Given the description of an element on the screen output the (x, y) to click on. 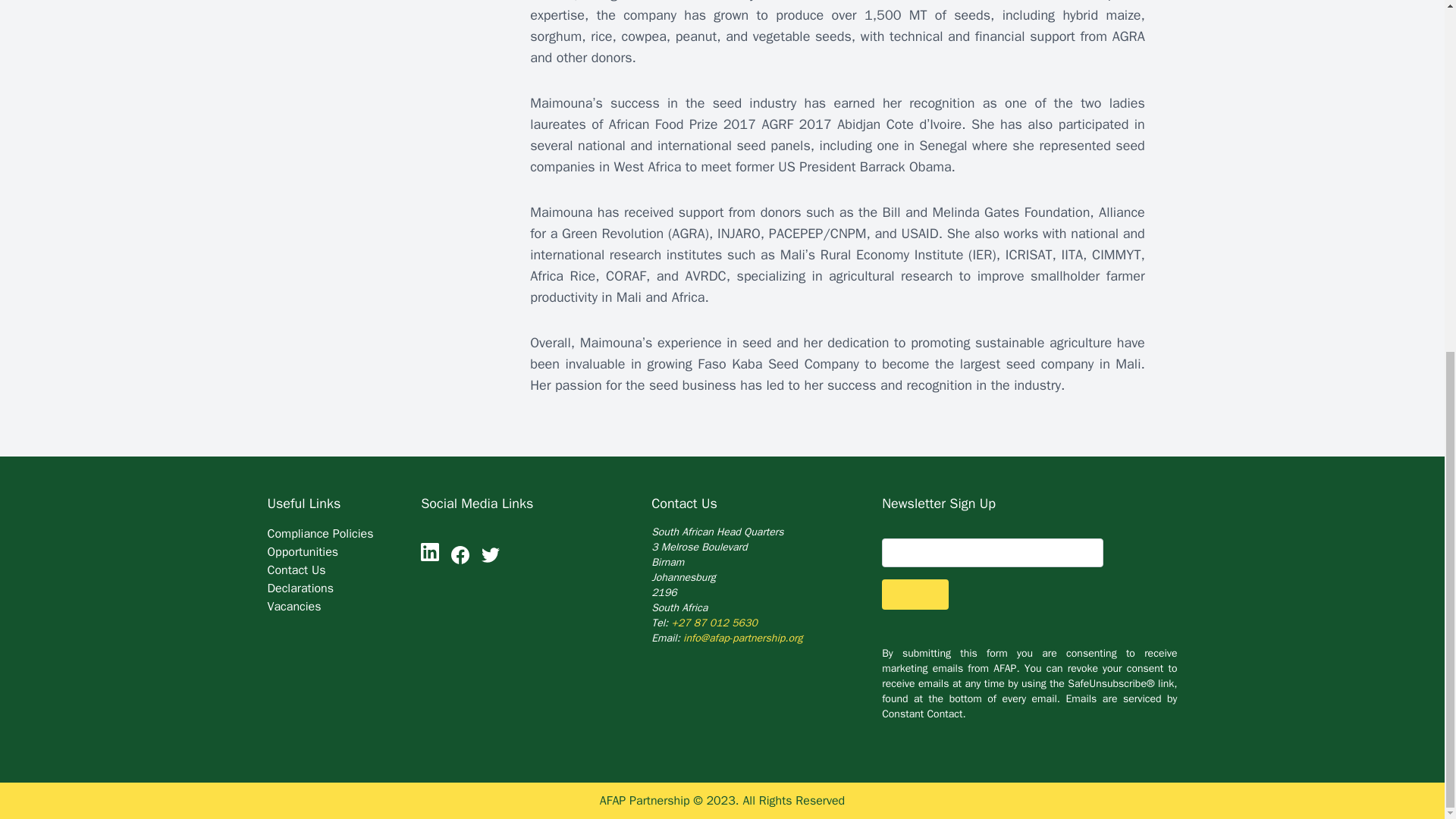
Submit (914, 594)
Opportunities (301, 551)
Declarations (299, 588)
Contact Us (295, 570)
Submit (914, 594)
Vacancies (293, 606)
Compliance Policies (319, 533)
